Given the description of an element on the screen output the (x, y) to click on. 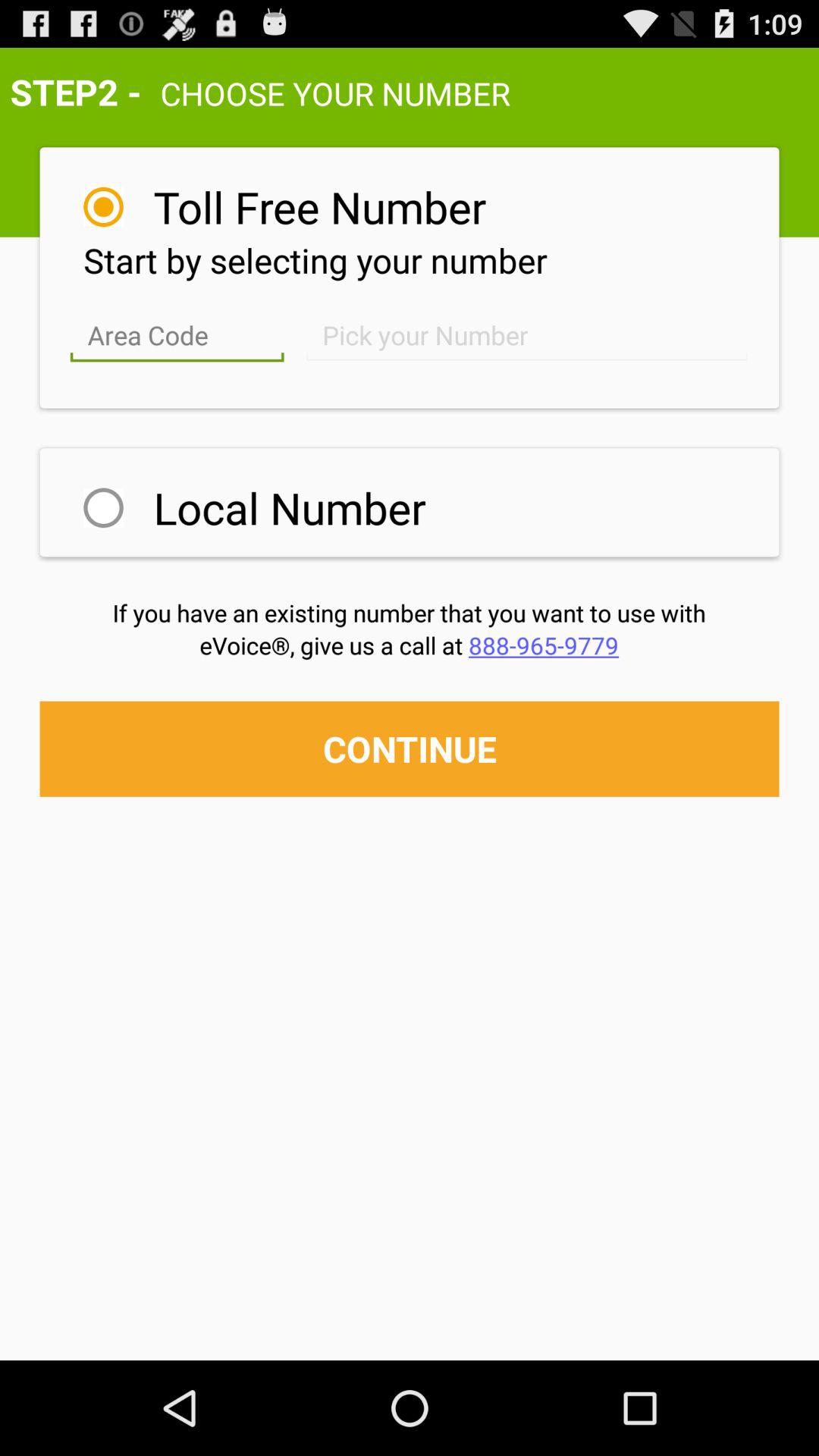
flip to local number (289, 507)
